Given the description of an element on the screen output the (x, y) to click on. 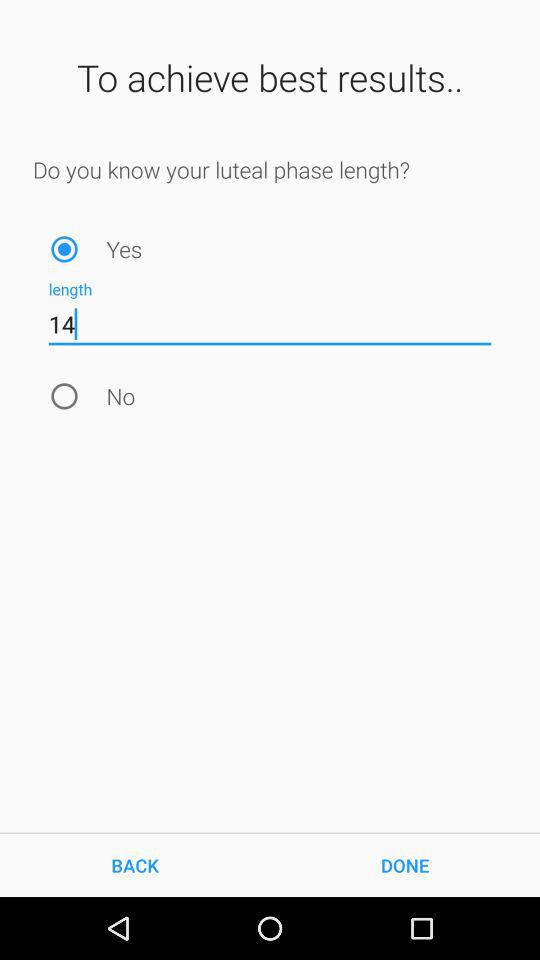
launch item next to the yes icon (64, 248)
